Given the description of an element on the screen output the (x, y) to click on. 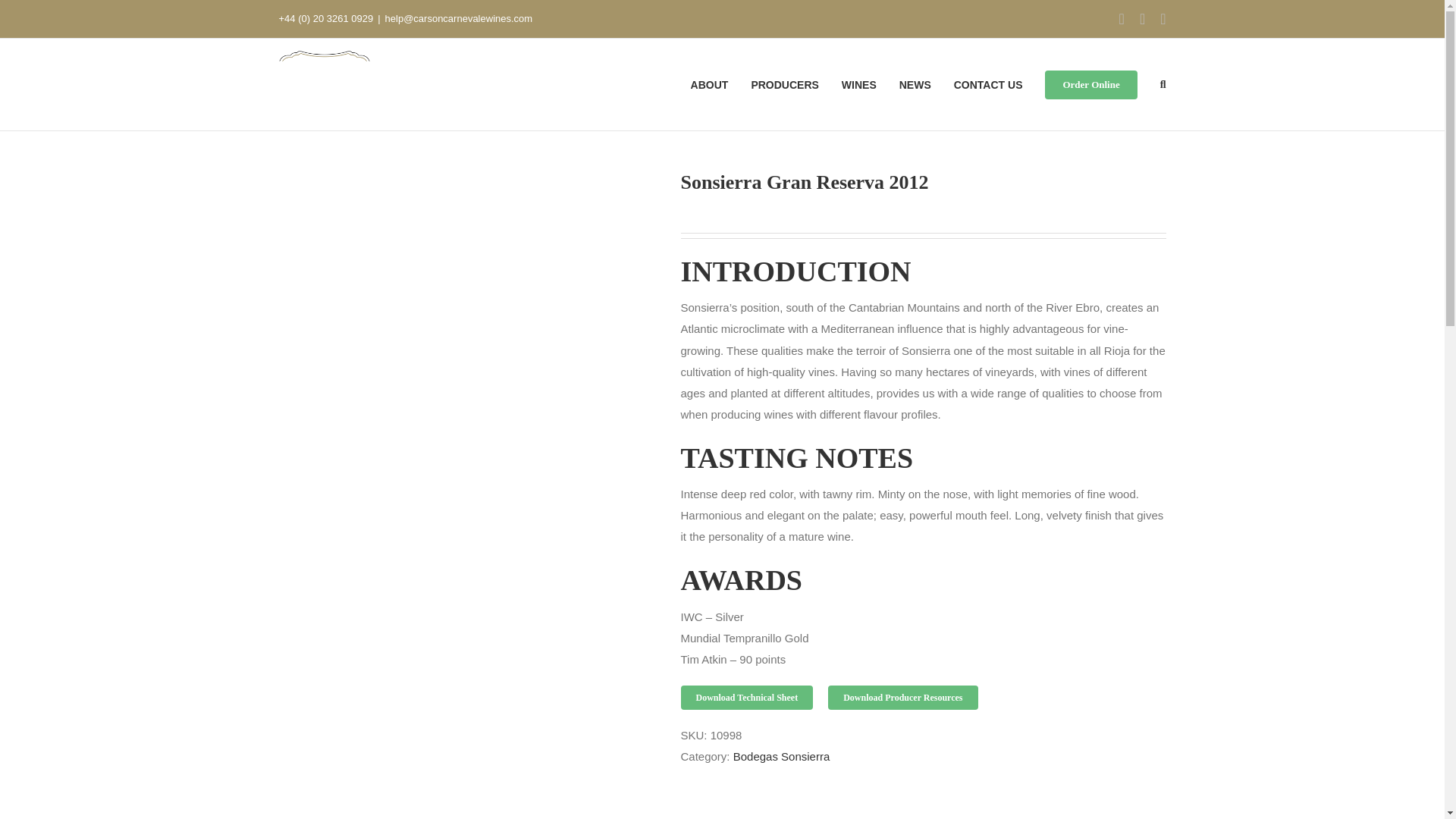
Download Producer Resources (902, 697)
Bodegas Sonsierra (781, 756)
Order Online (1091, 84)
Download Technical Sheet (747, 697)
